Given the description of an element on the screen output the (x, y) to click on. 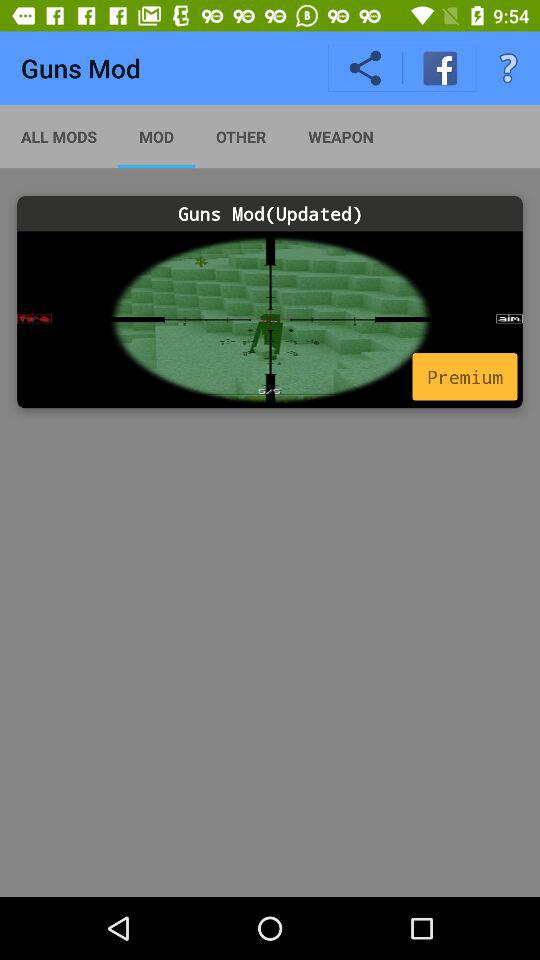
choose app to the left of the weapon icon (240, 136)
